Given the description of an element on the screen output the (x, y) to click on. 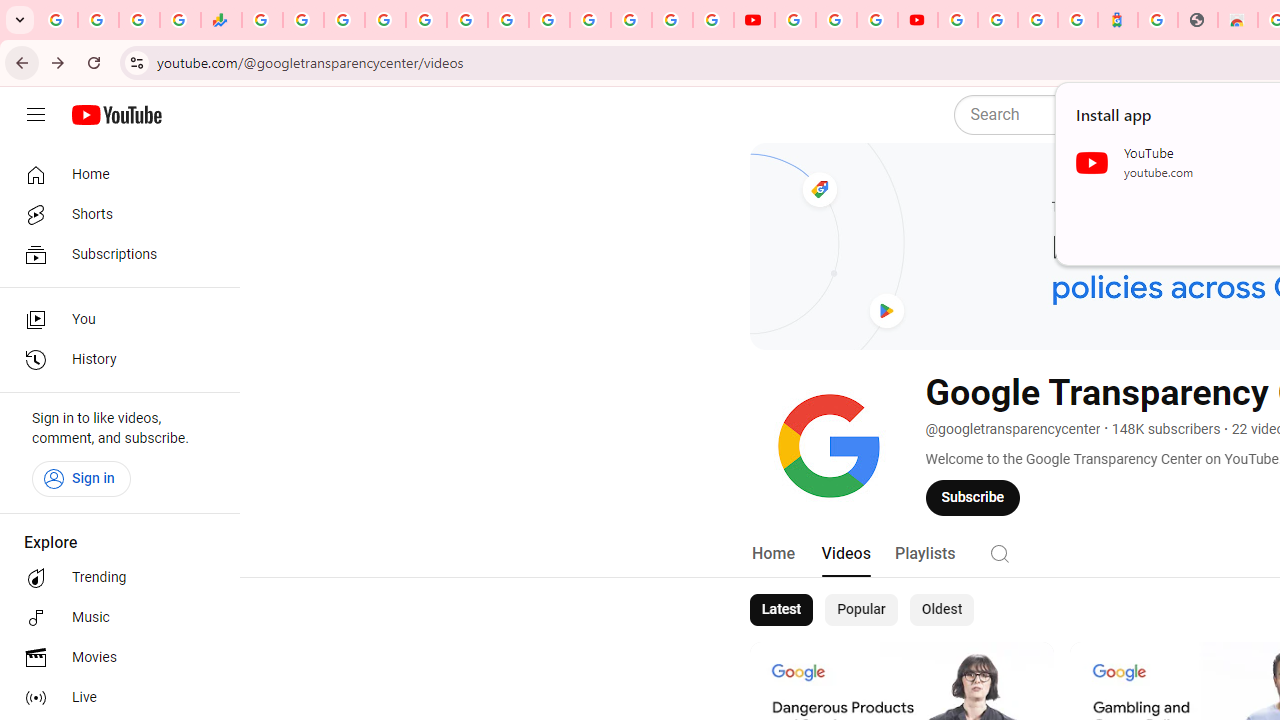
Privacy Checkup (712, 20)
Trending (113, 578)
Latest (780, 609)
Home (113, 174)
Music (113, 617)
Sign in - Google Accounts (957, 20)
Guide (35, 115)
Popular (861, 609)
Subscribe (973, 497)
Playlists (924, 553)
